Given the description of an element on the screen output the (x, y) to click on. 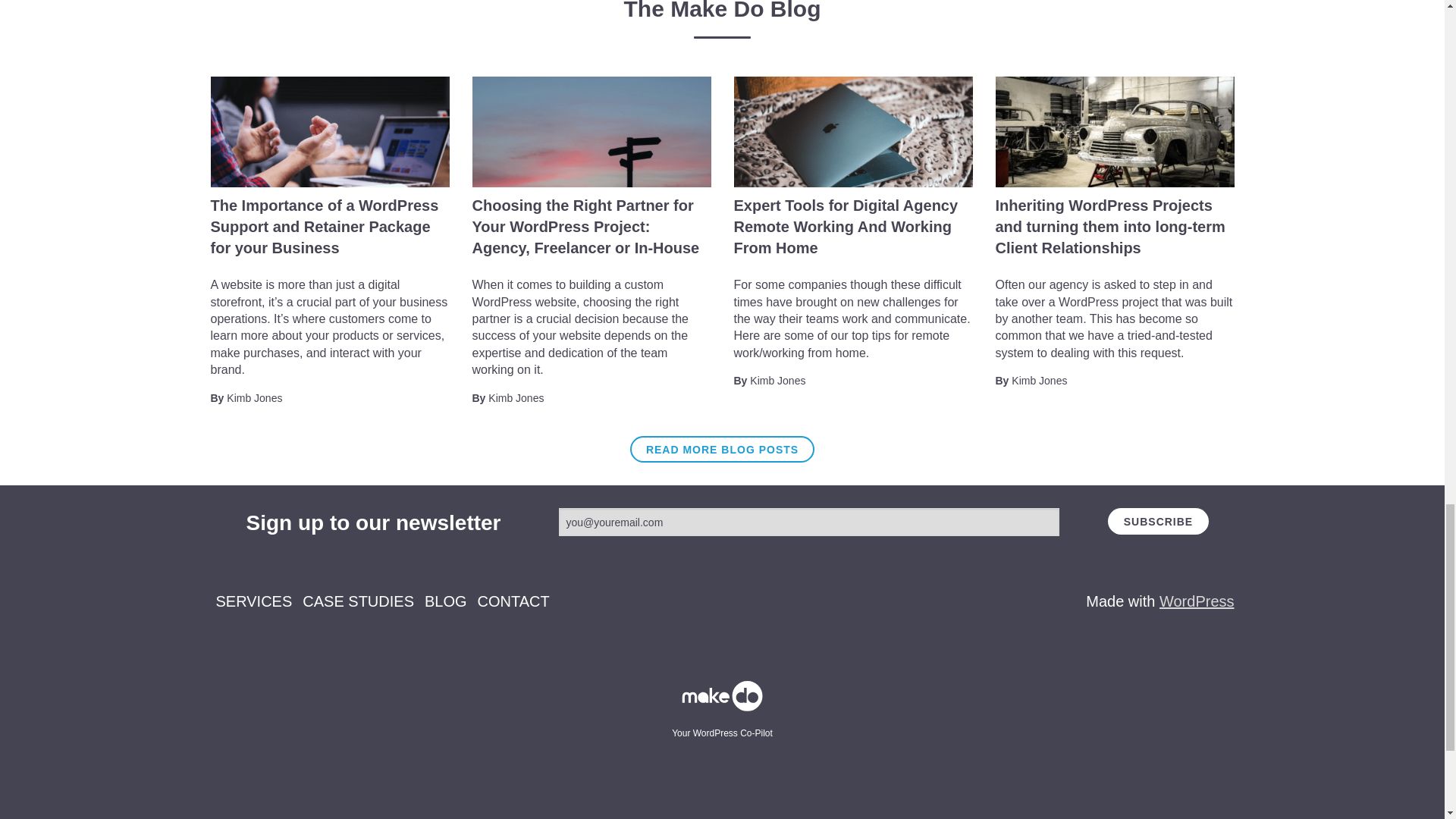
SERVICES (254, 601)
Subscribe (1158, 520)
Subscribe (1158, 520)
READ MORE BLOG POSTS (721, 448)
